Given the description of an element on the screen output the (x, y) to click on. 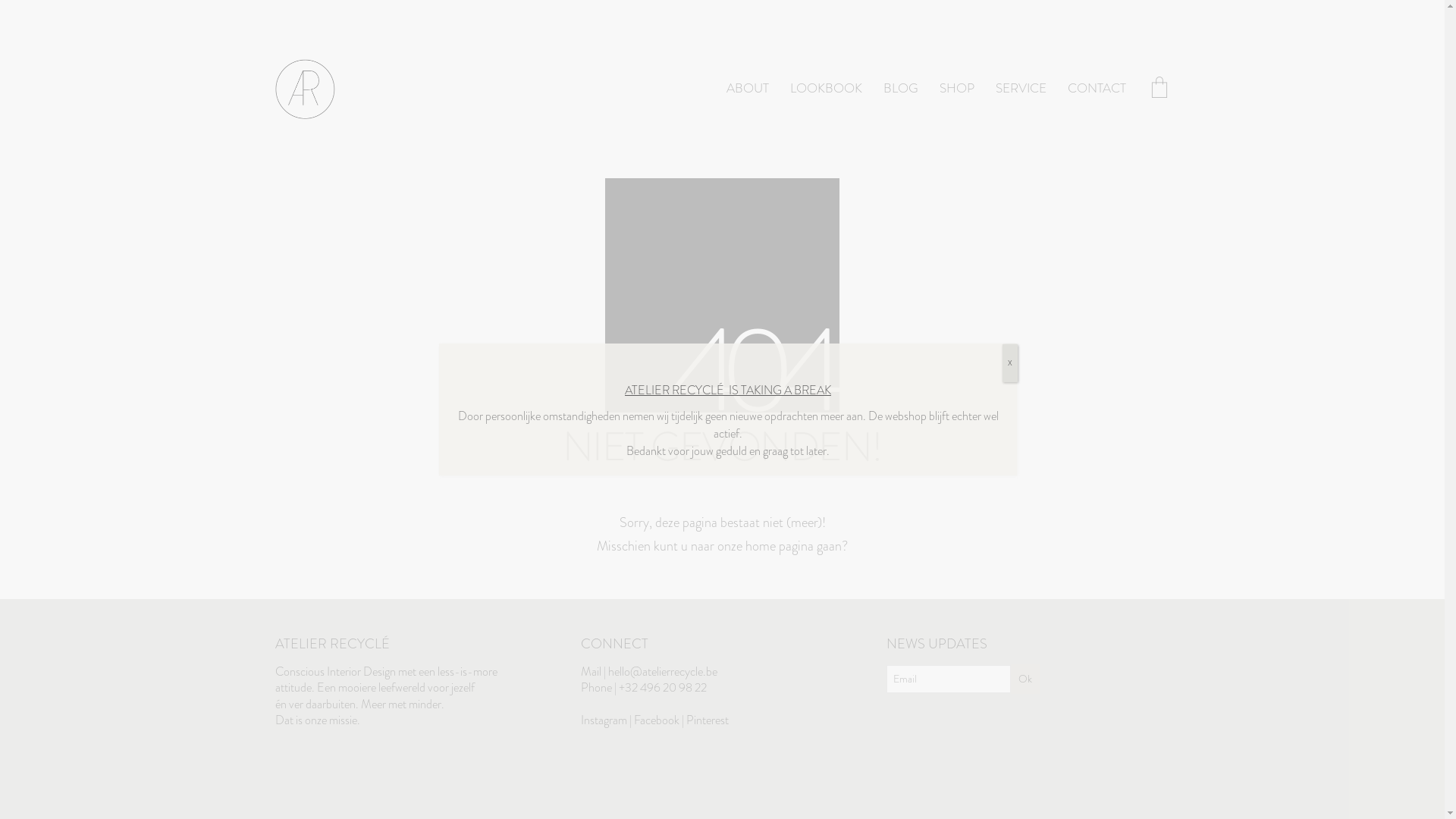
BLOG Element type: text (899, 88)
X Element type: text (1009, 363)
SHOP Element type: text (955, 88)
ABOUT Element type: text (747, 88)
CONTACT Element type: text (1096, 88)
Ok Element type: text (1024, 678)
Instagram Element type: text (603, 720)
home pagina Element type: text (779, 546)
Pinterest Element type: text (707, 720)
LOOKBOOK Element type: text (826, 88)
SERVICE Element type: text (1019, 88)
Facebook Element type: text (656, 720)
hello@atelierrecycle.be Element type: text (662, 671)
